Given the description of an element on the screen output the (x, y) to click on. 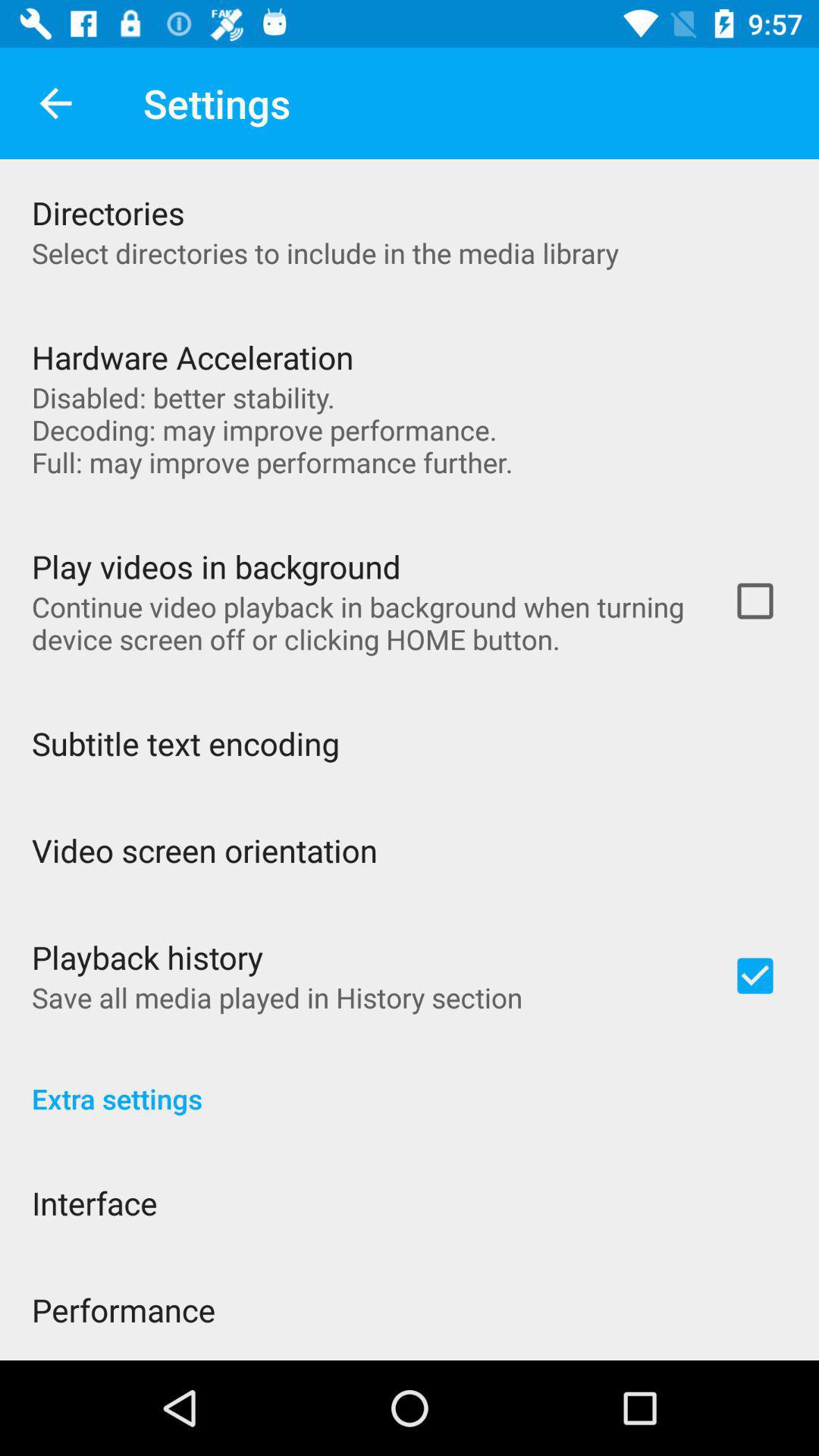
flip to extra settings icon (409, 1082)
